Given the description of an element on the screen output the (x, y) to click on. 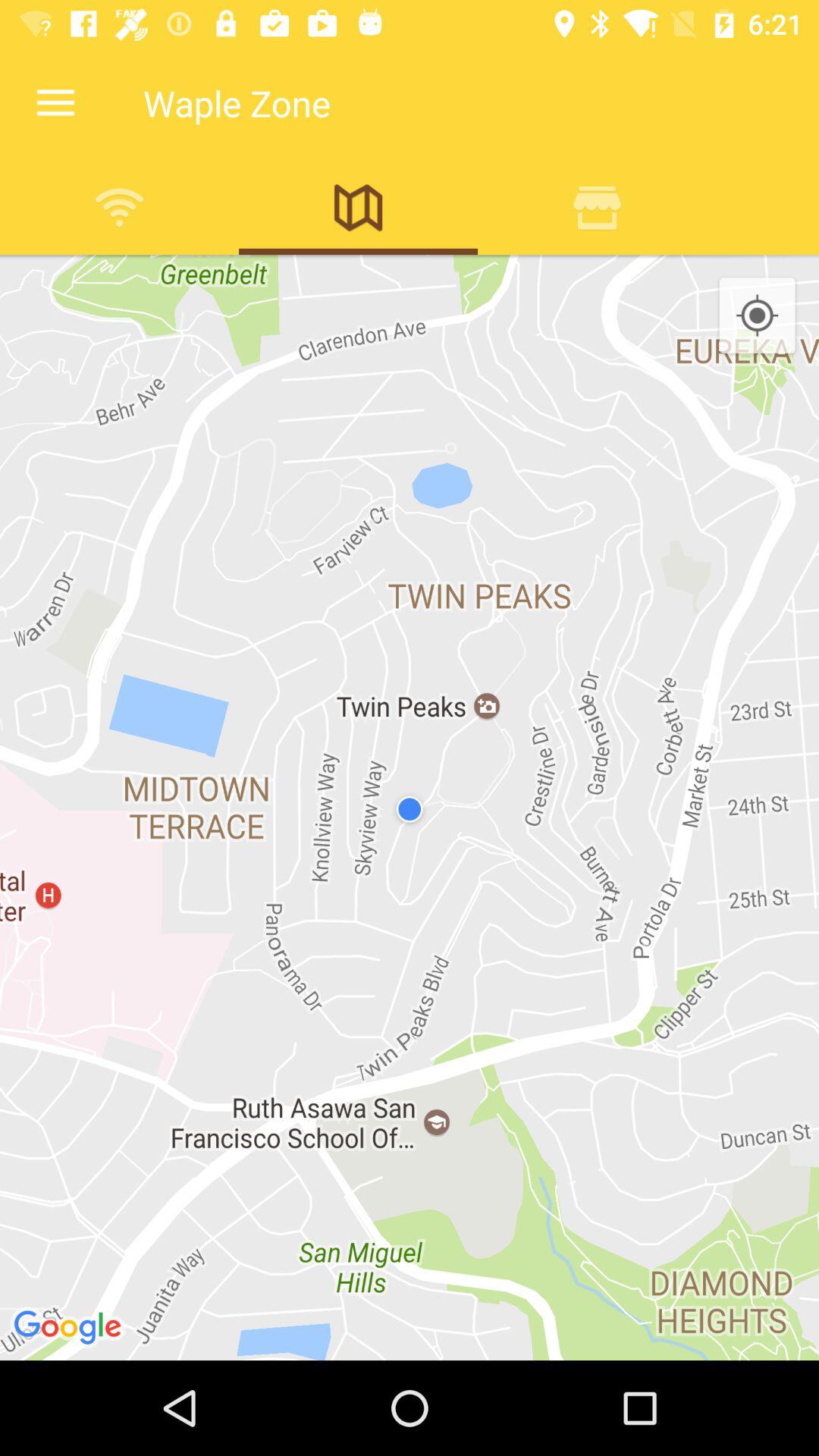
hotspots (119, 206)
